Given the description of an element on the screen output the (x, y) to click on. 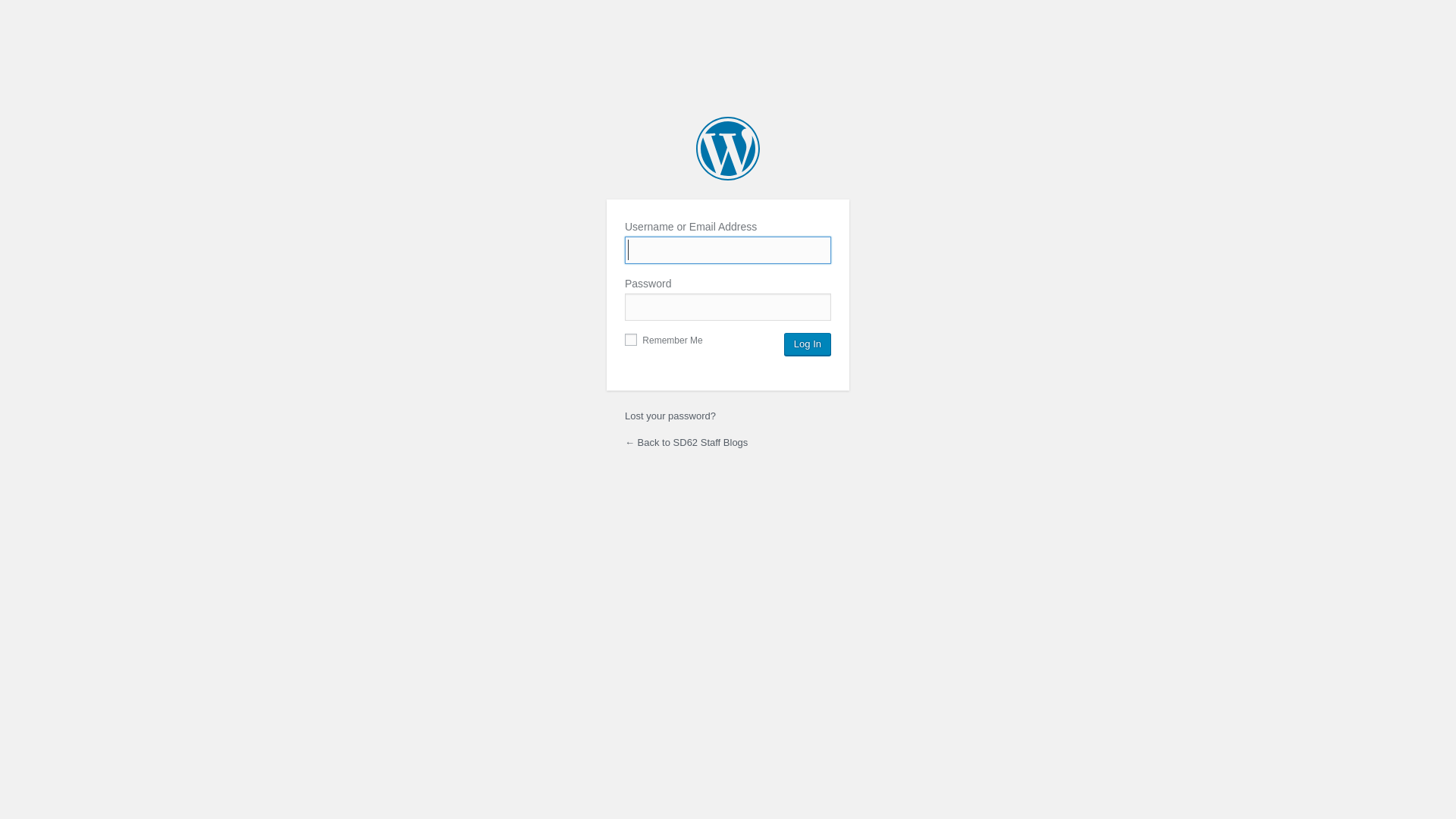
SD62 Staff Blogs Element type: text (727, 148)
Lost your password? Element type: text (669, 415)
Log In Element type: text (807, 343)
